Given the description of an element on the screen output the (x, y) to click on. 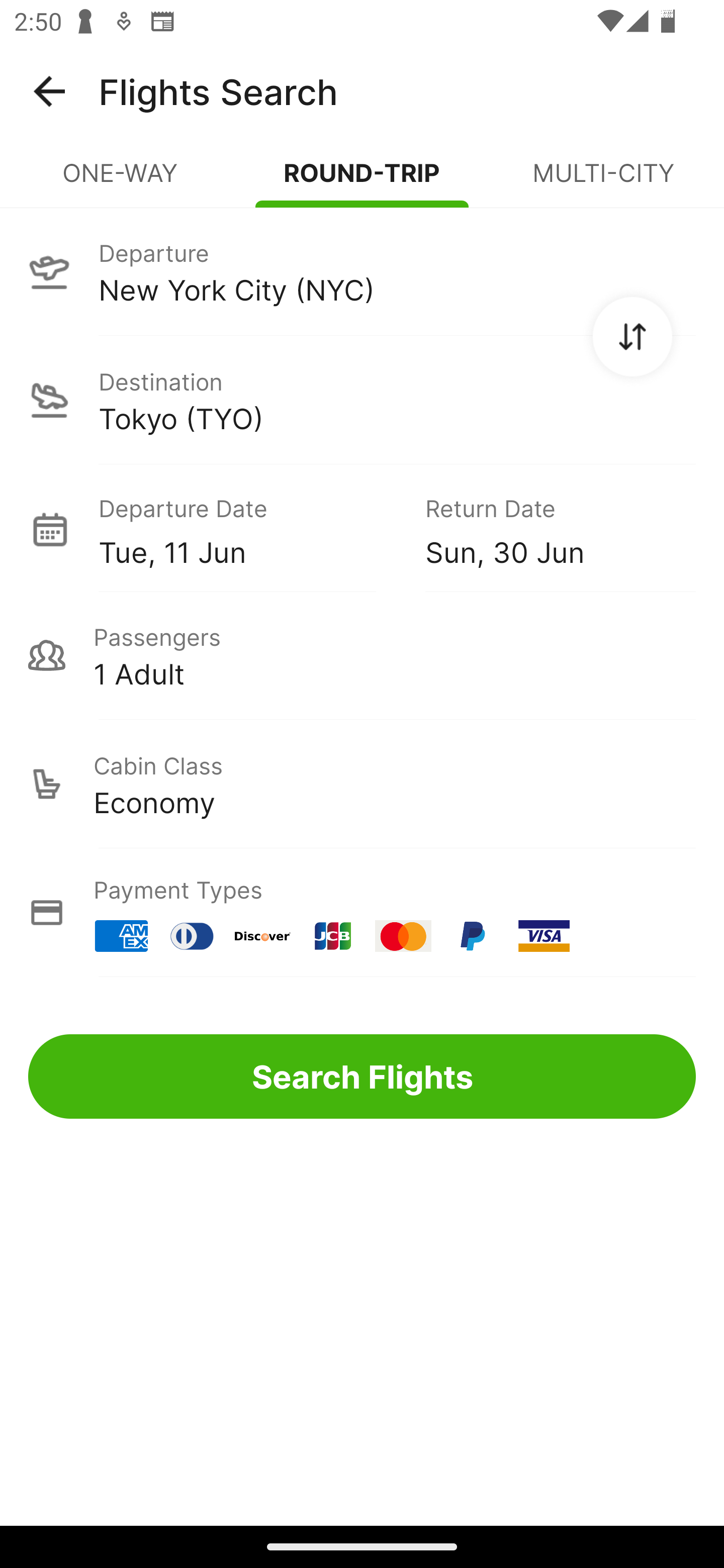
ONE-WAY (120, 180)
ROUND-TRIP (361, 180)
MULTI-CITY (603, 180)
Departure New York City (NYC) (362, 270)
Destination Tokyo (TYO) (362, 400)
Departure Date Tue, 11 Jun (247, 528)
Return Date Sun, 30 Jun (546, 528)
Passengers 1 Adult (362, 655)
Cabin Class Economy (362, 783)
Payment Types (362, 912)
Search Flights (361, 1075)
